Given the description of an element on the screen output the (x, y) to click on. 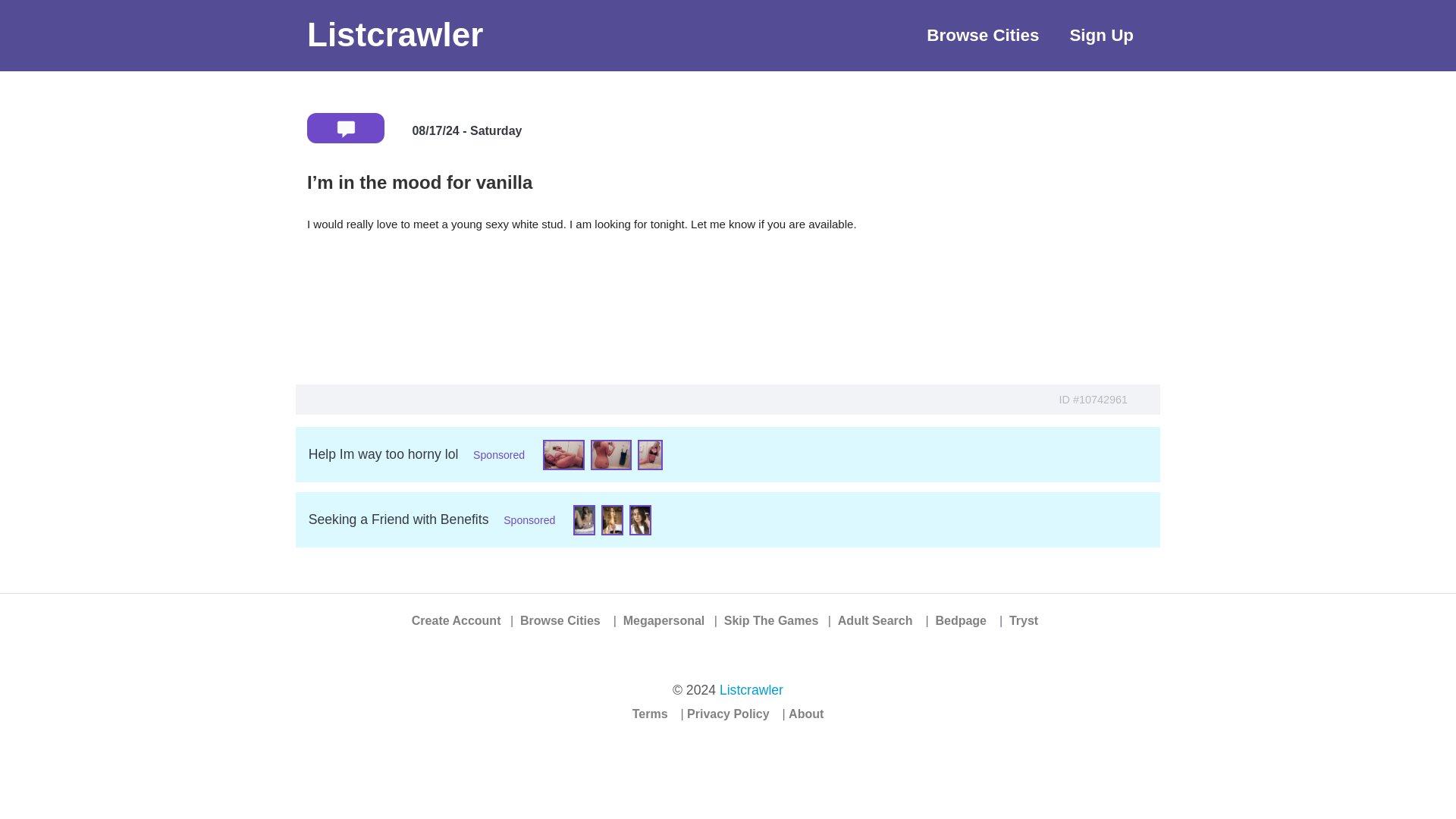
Skip The Games (770, 620)
Seeking a Friend with Benefits (398, 519)
Sign Up (1101, 35)
Listcrawler (751, 689)
Adult Search (875, 620)
Create Account (456, 620)
Browse Cities (982, 35)
Tryst (1023, 620)
Help Im way too horny lol (383, 453)
Bedpage (960, 620)
